Given the description of an element on the screen output the (x, y) to click on. 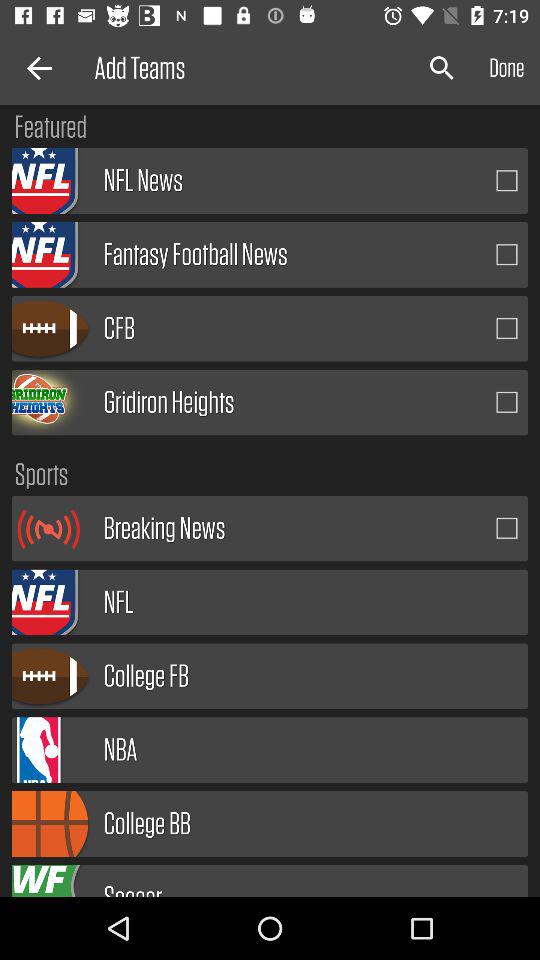
follow channel (507, 180)
